Given the description of an element on the screen output the (x, y) to click on. 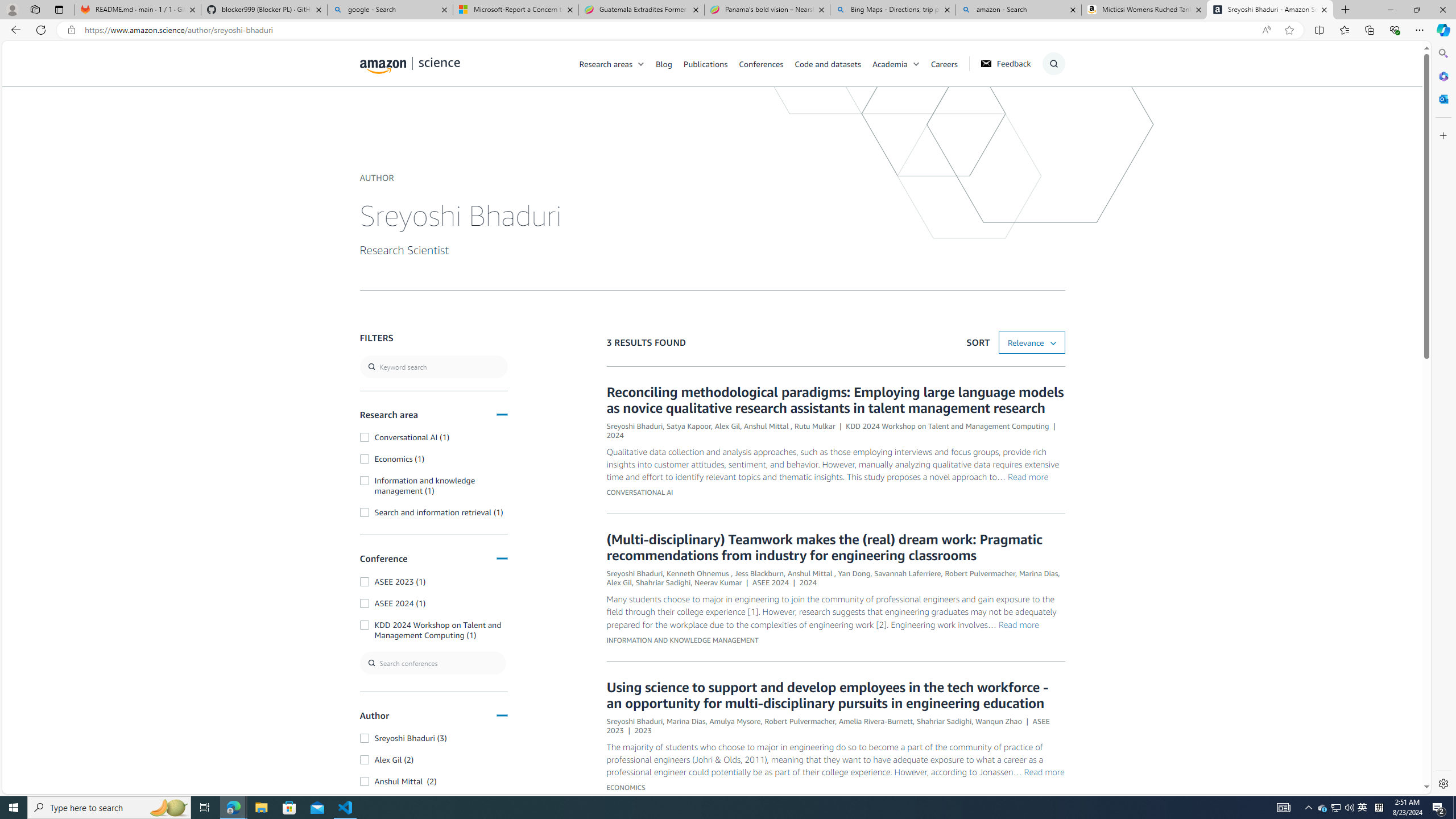
Careers (949, 63)
Academia (901, 63)
amazon - Search (1018, 9)
Satya Kapoor (688, 425)
Publications (705, 63)
Class: icon-magnify (372, 108)
